Given the description of an element on the screen output the (x, y) to click on. 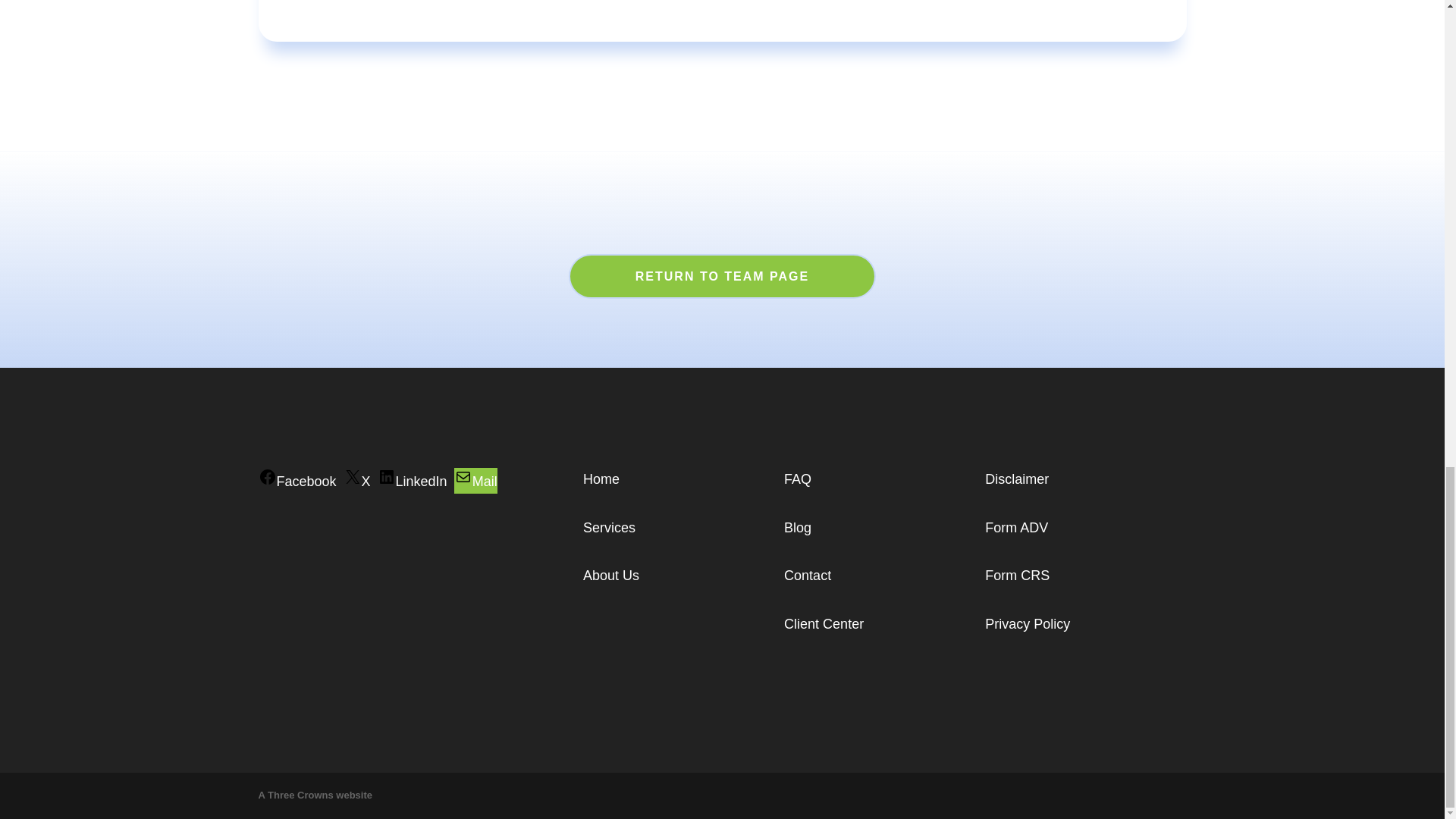
Facebook (296, 481)
Client Center (823, 623)
FAQ (797, 478)
Blog (797, 527)
About Us (611, 575)
RETURN TO TEAM PAGE (722, 275)
Contact (807, 575)
Disclaimer (1016, 478)
X (357, 481)
Form CRS (1017, 575)
Form ADV (1016, 527)
Privacy Policy (1027, 623)
Services (608, 527)
A Three Crowns website (314, 794)
Mail (475, 481)
